Given the description of an element on the screen output the (x, y) to click on. 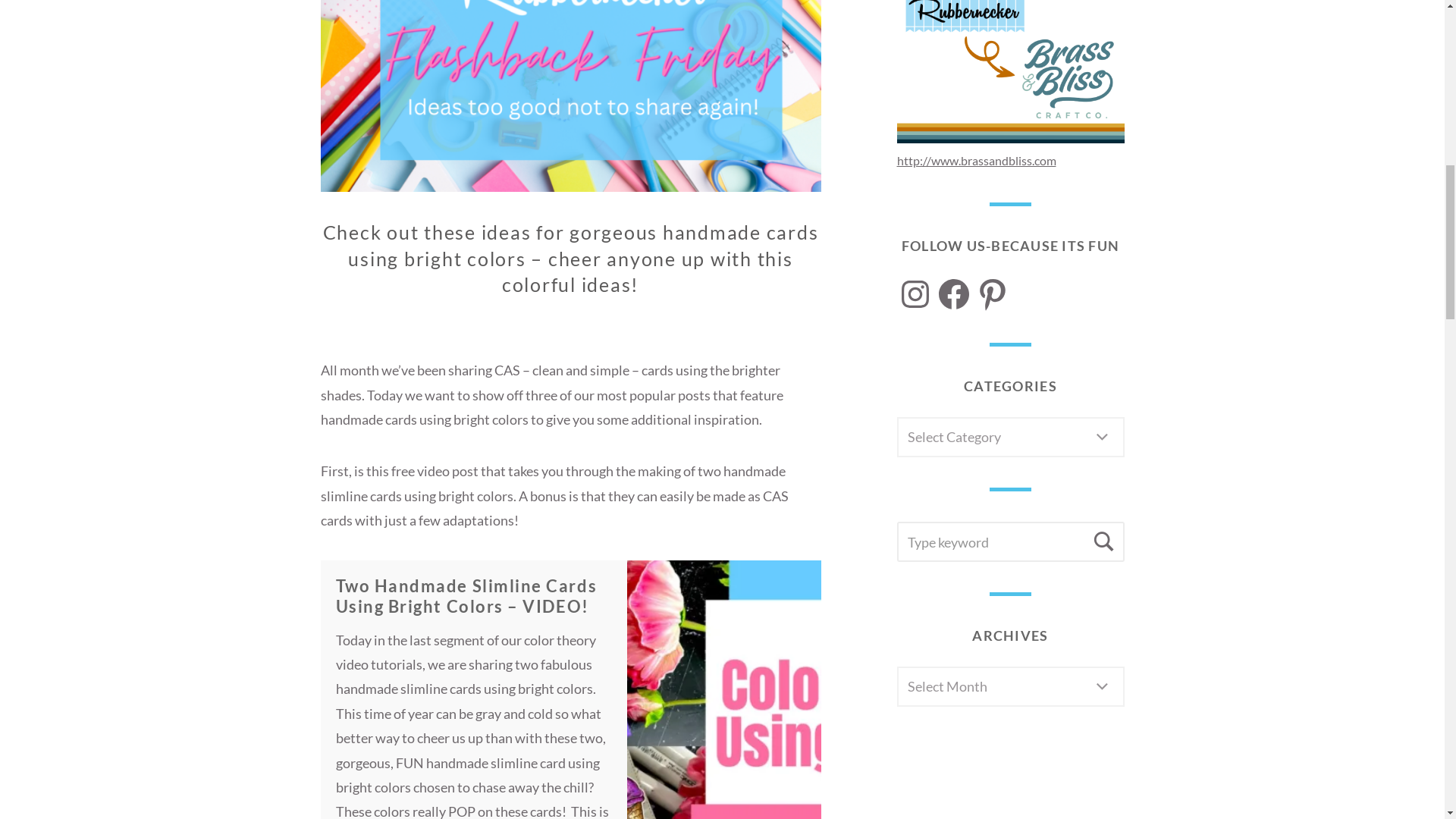
Instagram (914, 294)
Facebook (954, 294)
Pinterest (992, 294)
Press Enter to submit your search (1010, 541)
Search (1104, 541)
